Given the description of an element on the screen output the (x, y) to click on. 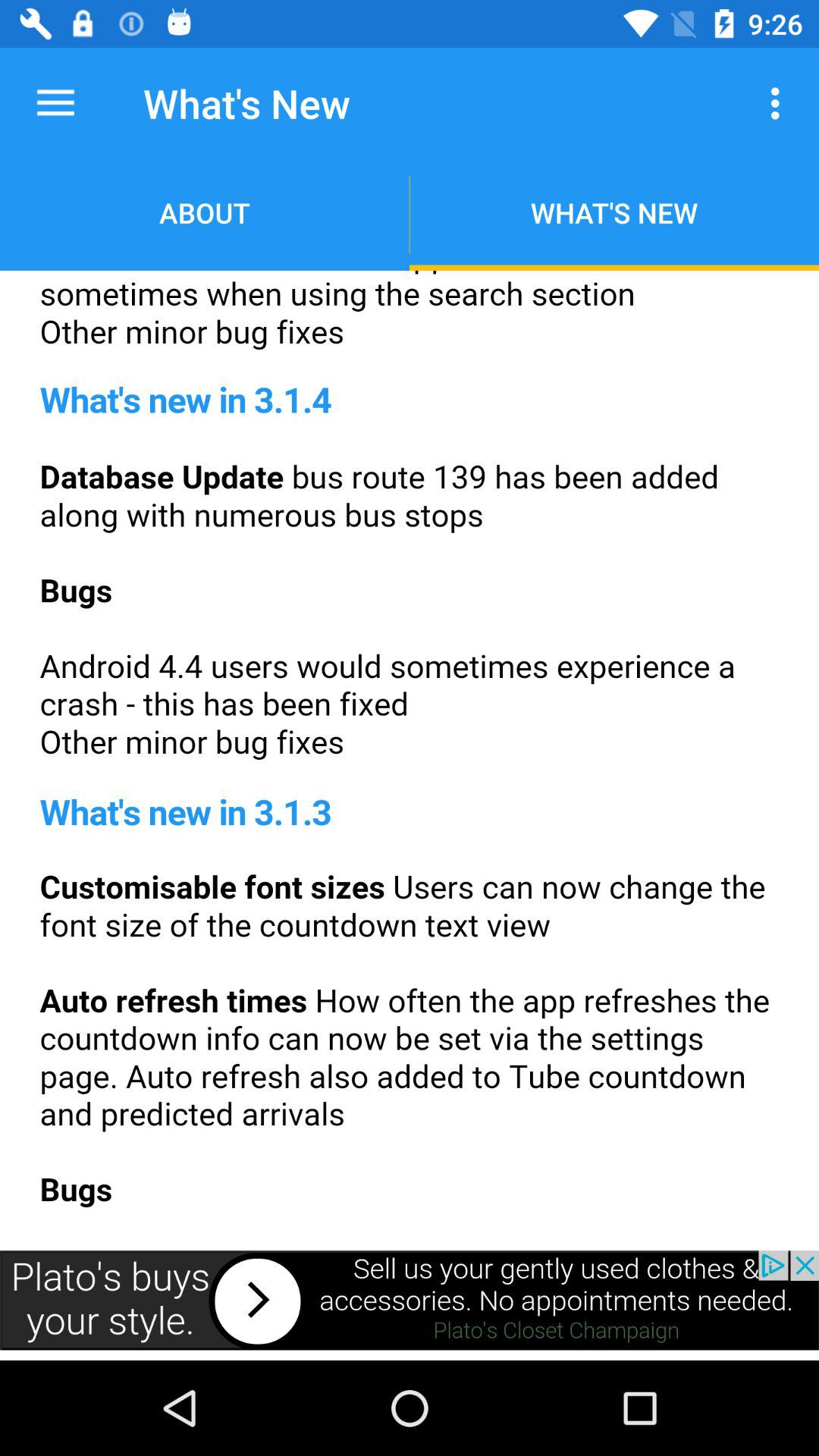
open advertisement (409, 1300)
